Given the description of an element on the screen output the (x, y) to click on. 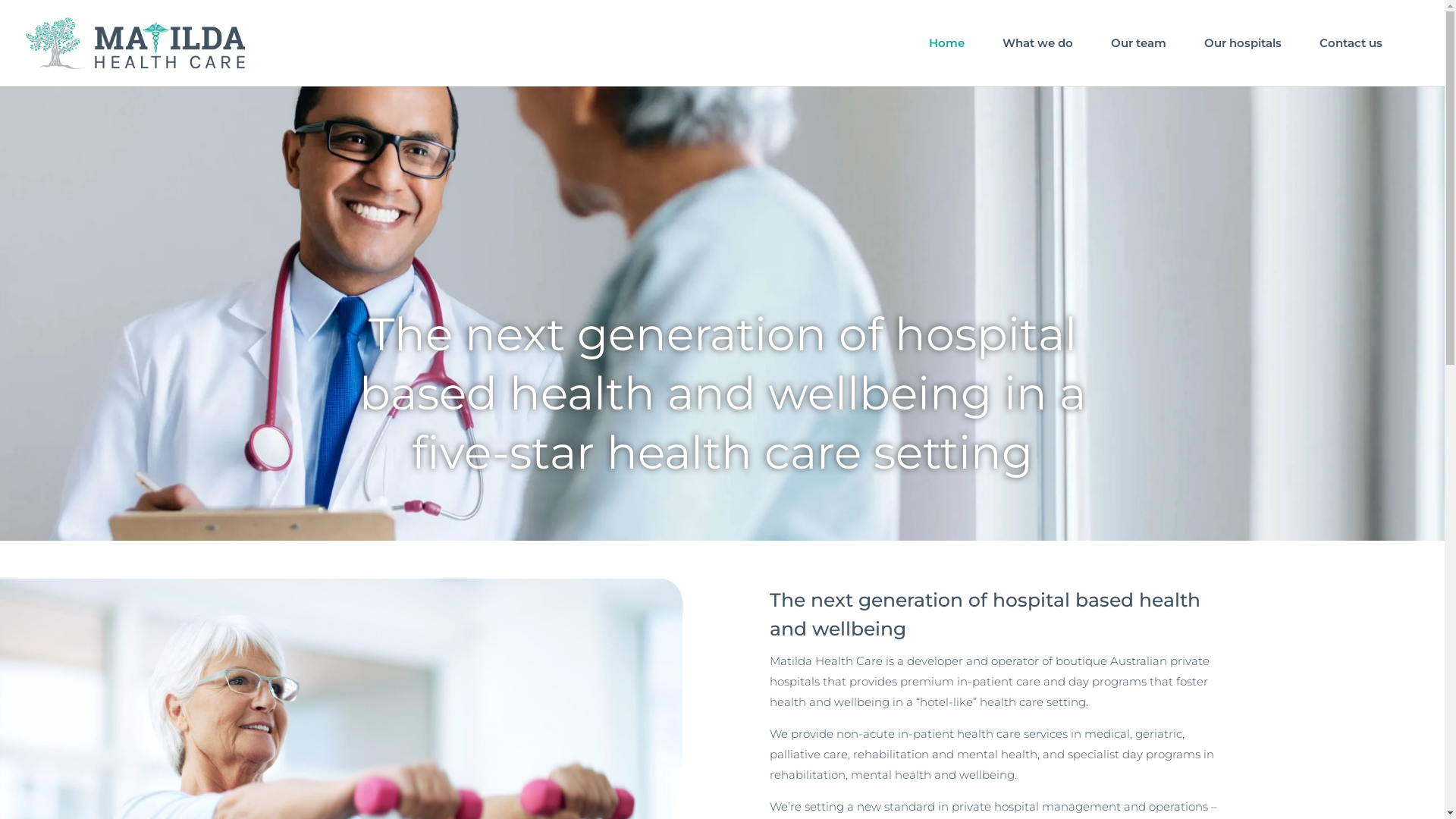
Contact us Element type: text (1350, 61)
Home Element type: text (946, 61)
Our hospitals Element type: text (1242, 61)
Our team Element type: text (1138, 61)
What we do Element type: text (1037, 61)
